Given the description of an element on the screen output the (x, y) to click on. 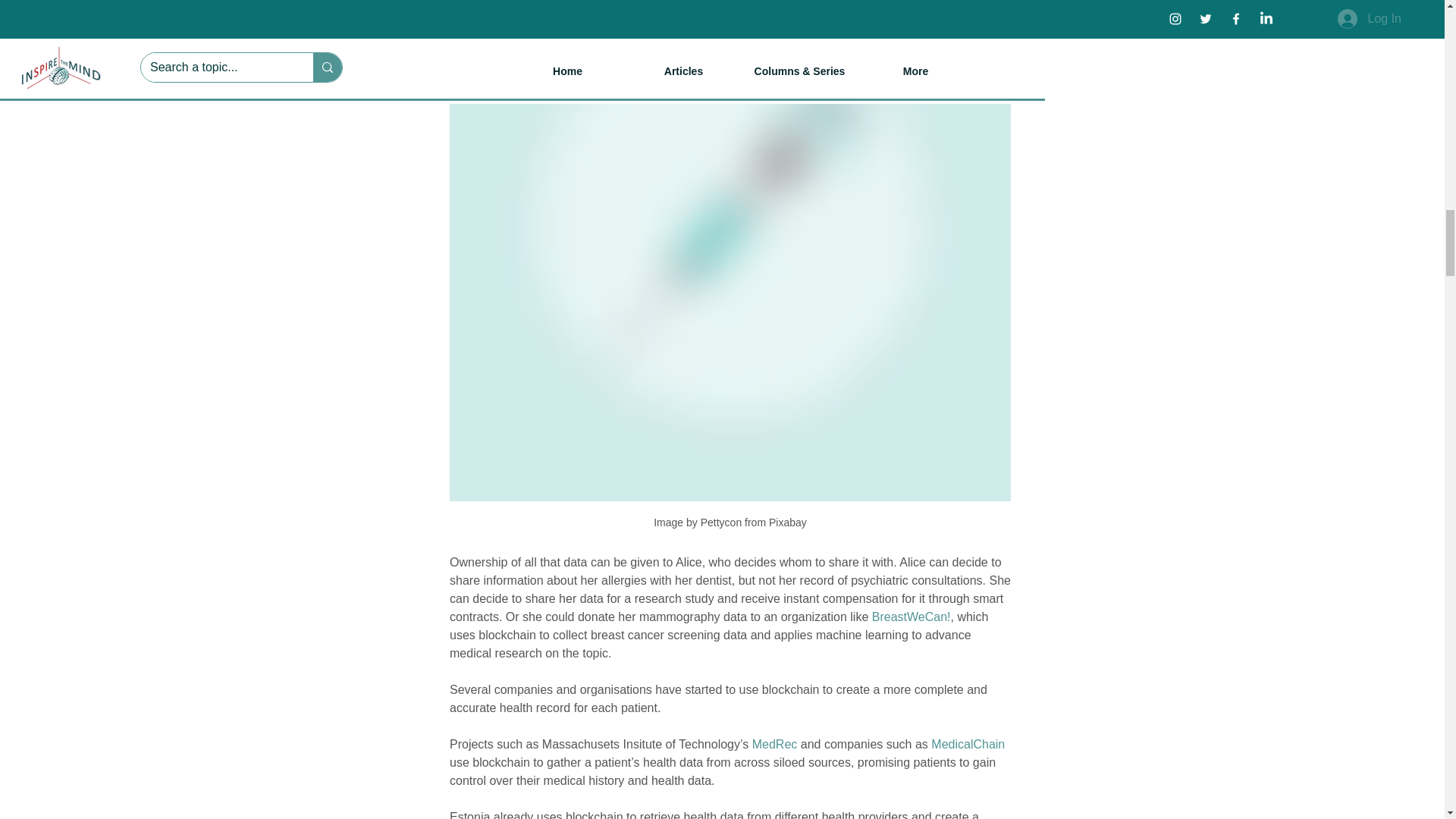
MedicalChain (967, 744)
BreastWeCan! (910, 616)
MedRec (773, 744)
